Given the description of an element on the screen output the (x, y) to click on. 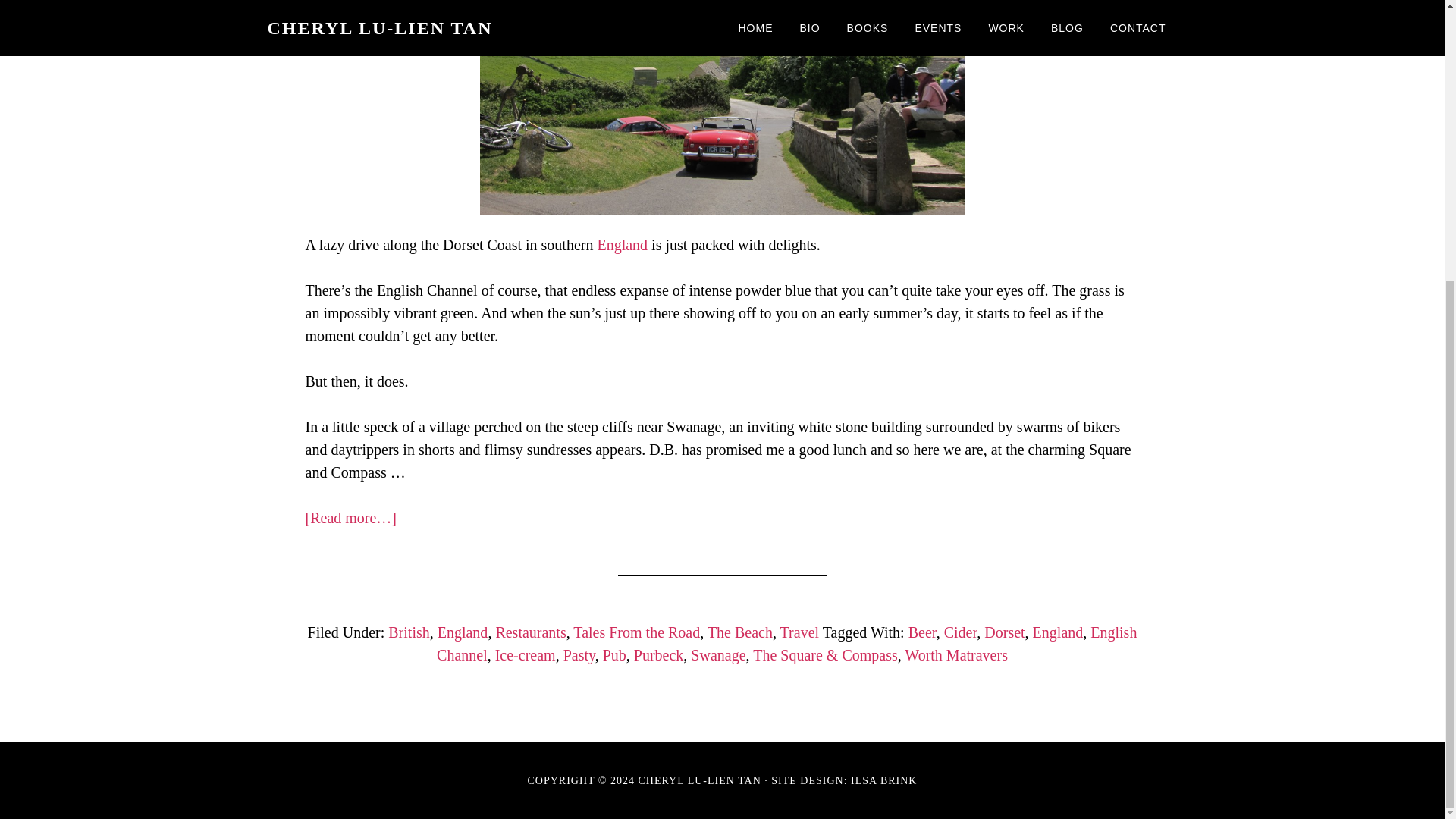
Restaurants (530, 632)
Swanage (717, 655)
Ice-cream (525, 655)
English Channel (786, 643)
Beer (922, 632)
Pasty (579, 655)
Dorset (1004, 632)
The Beach (740, 632)
Pub (614, 655)
Cider (959, 632)
